Given the description of an element on the screen output the (x, y) to click on. 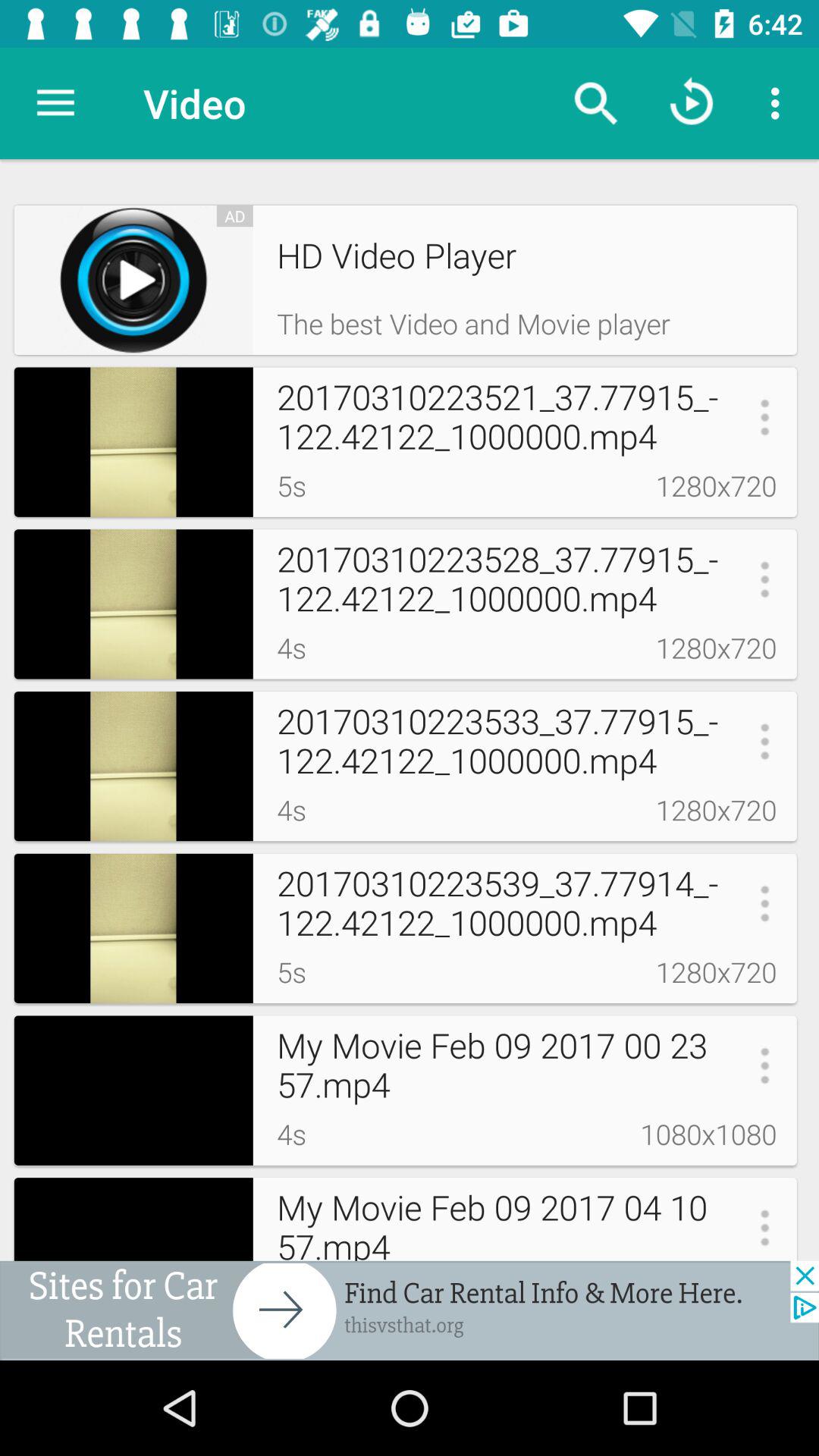
open advert (409, 1310)
